Given the description of an element on the screen output the (x, y) to click on. 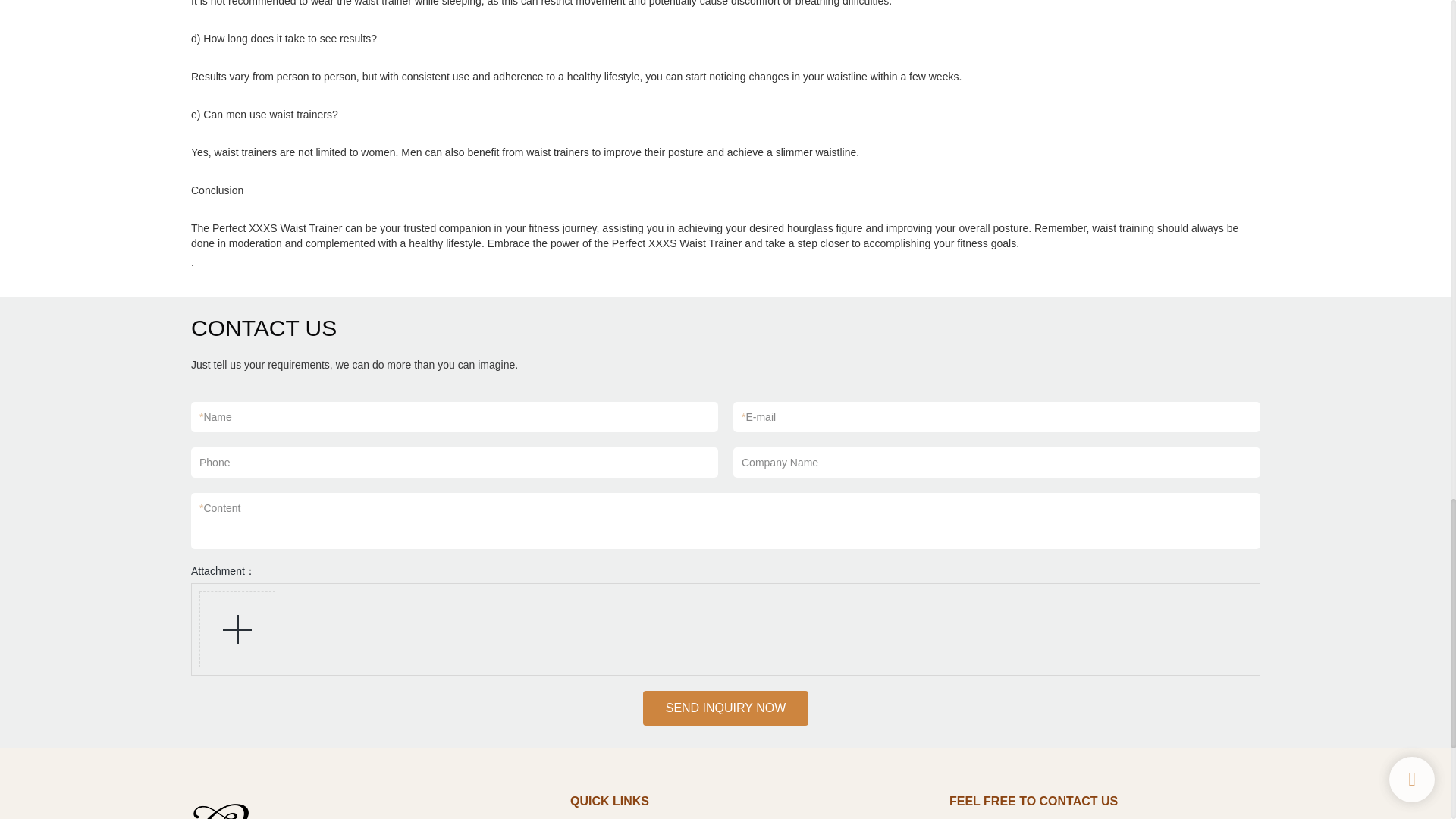
SEND INQUIRY NOW (726, 708)
